Given the description of an element on the screen output the (x, y) to click on. 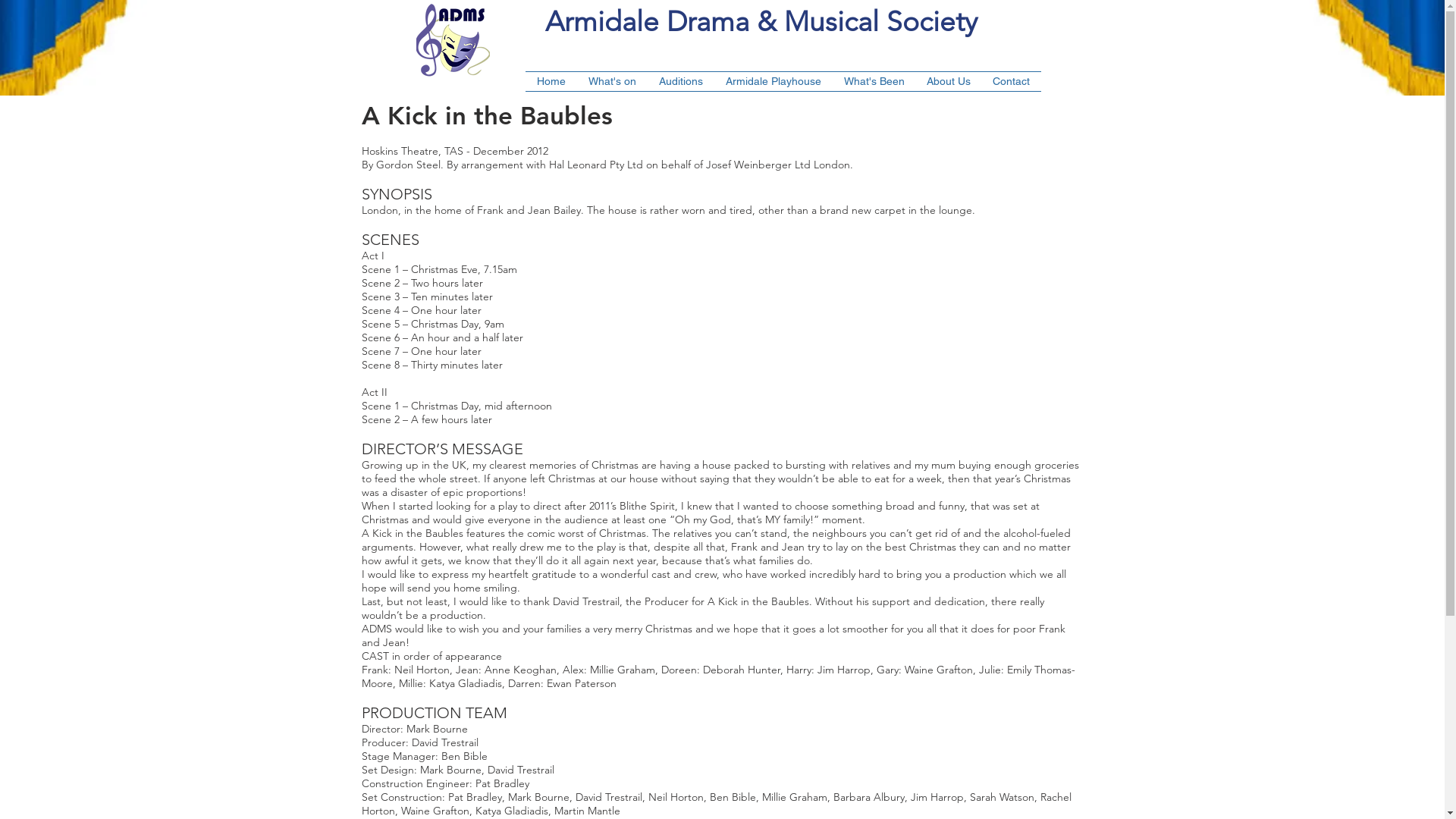
About Us Element type: text (949, 81)
Armidale Playhouse Element type: text (773, 81)
Home Element type: text (550, 81)
Contact Element type: text (1010, 81)
Auditions Element type: text (680, 81)
What's on Element type: text (611, 81)
What's Been Element type: text (874, 81)
